Given the description of an element on the screen output the (x, y) to click on. 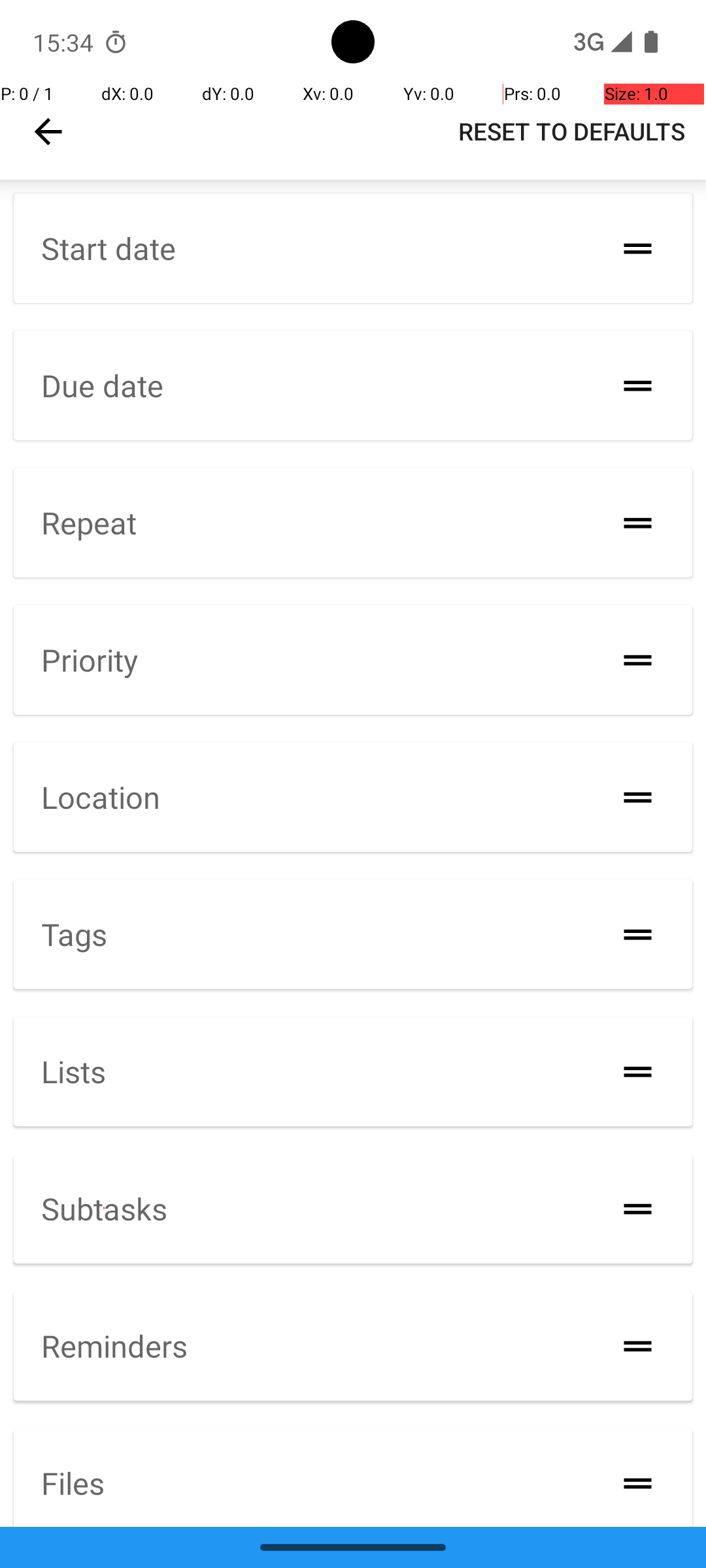
RESET TO DEFAULTS Element type: android.widget.Button (571, 131)
Start date Element type: android.widget.TextView (108, 247)
Lists Element type: android.widget.TextView (73, 1070)
Reminders Element type: android.widget.TextView (114, 1345)
